Given the description of an element on the screen output the (x, y) to click on. 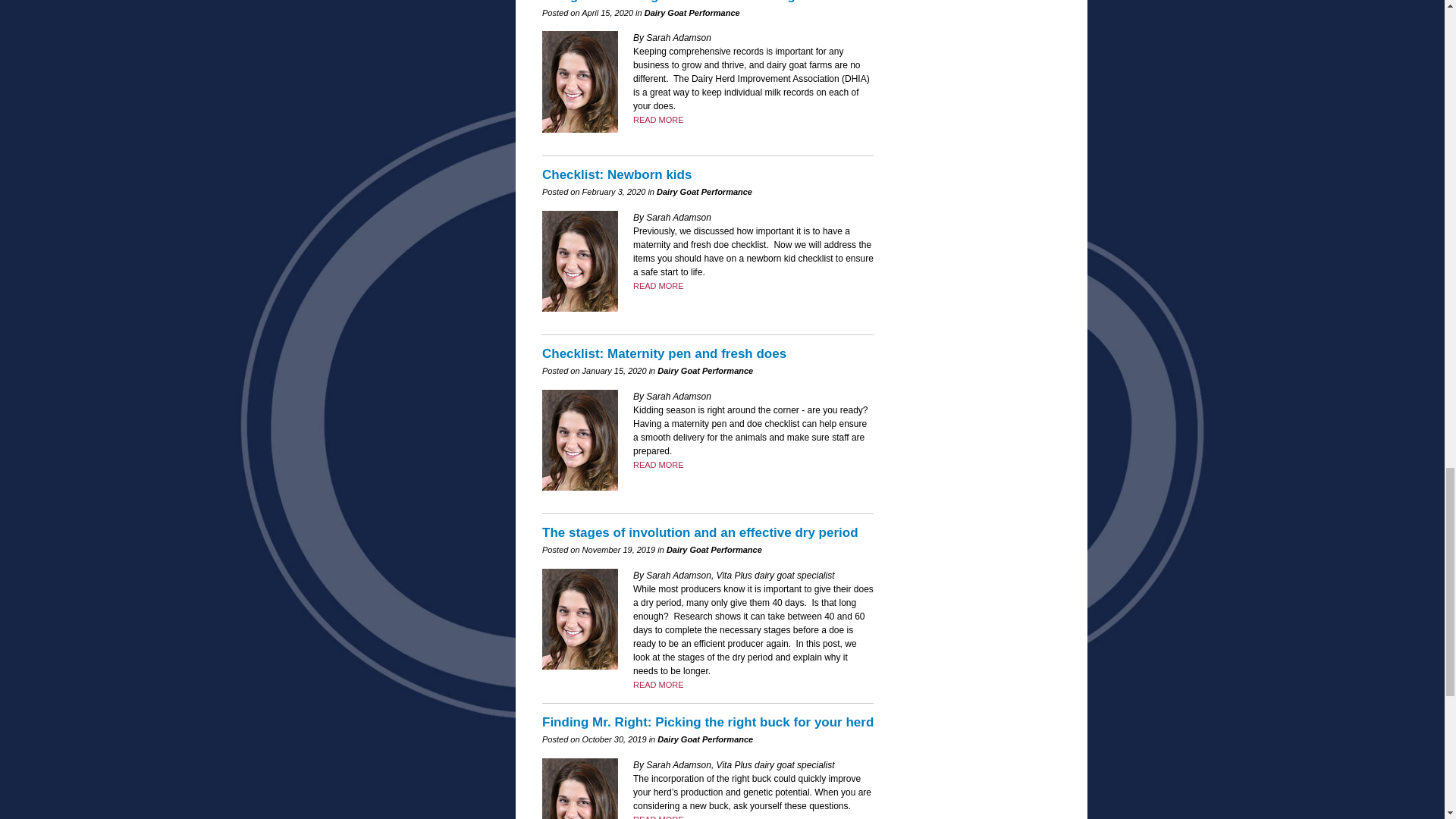
Winter calf barn ventilation (658, 285)
Winter calf barn ventilation (658, 119)
Winter calf barn ventilation (658, 684)
Winter calf barn ventilation (658, 464)
Winter calf barn ventilation (658, 816)
